Given the description of an element on the screen output the (x, y) to click on. 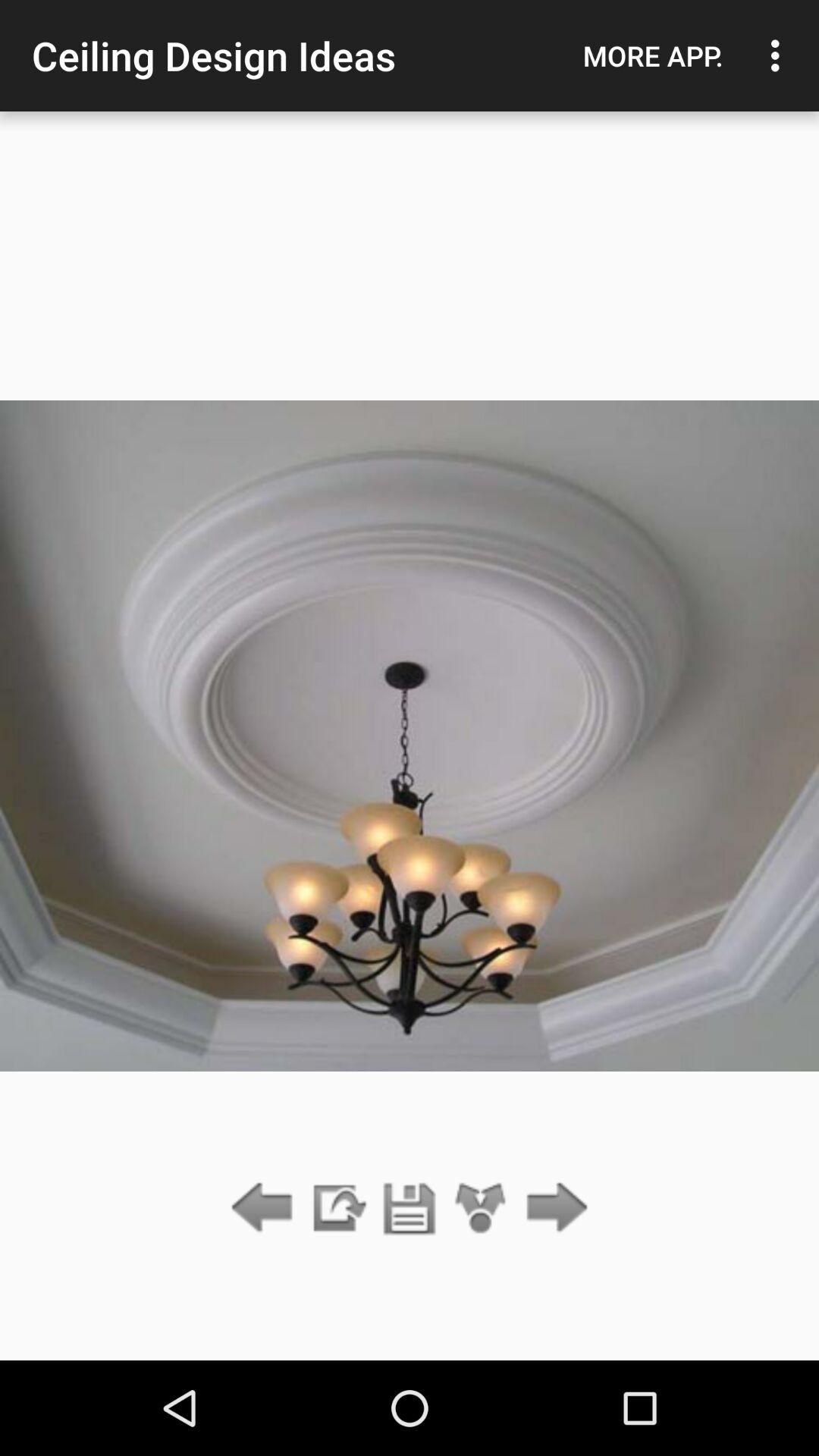
turn off the item at the bottom right corner (552, 1209)
